Given the description of an element on the screen output the (x, y) to click on. 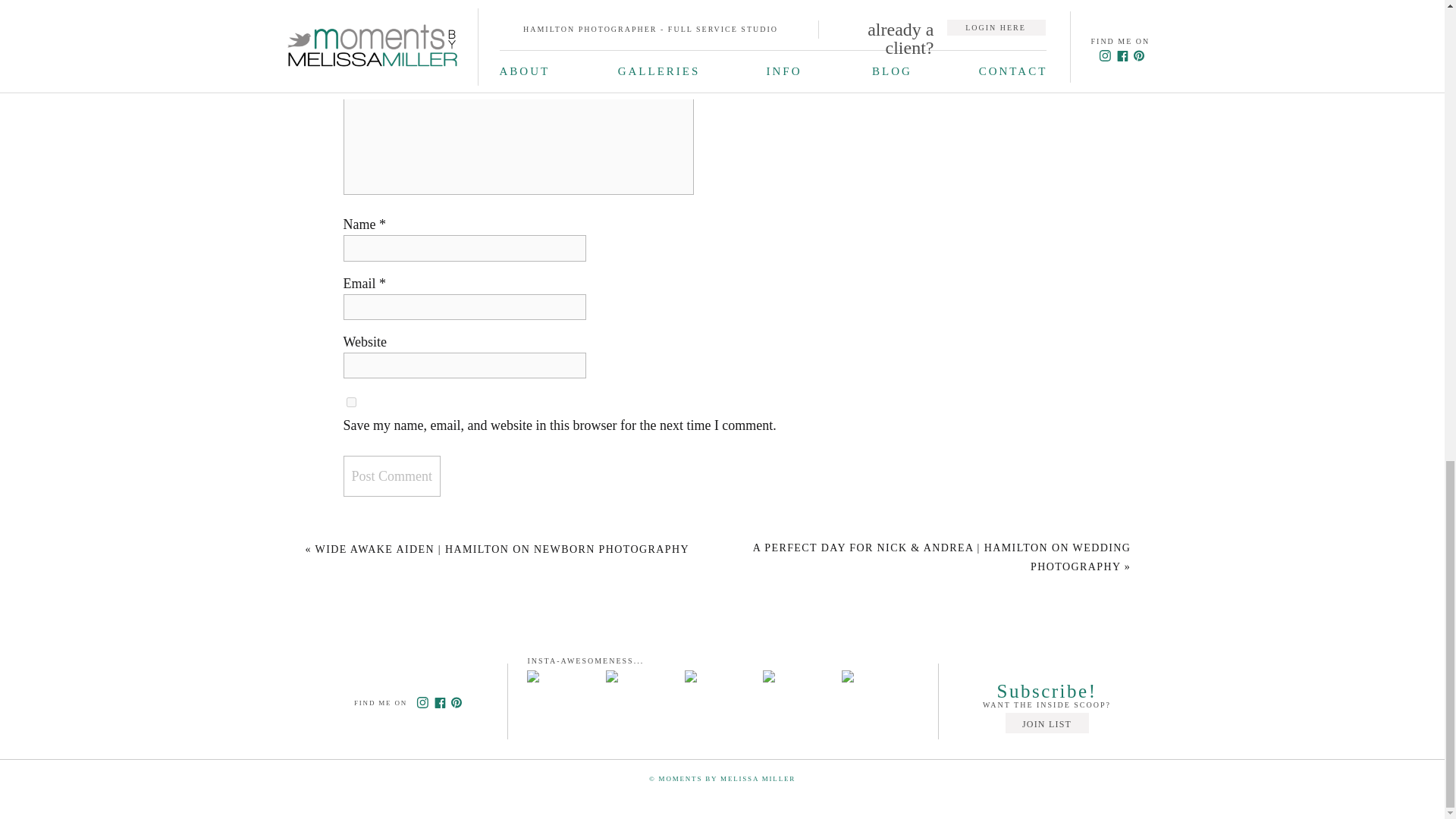
Post Comment (391, 475)
Facebook Copy-color Created with Sketch. (439, 702)
Instagram-color Created with Sketch. (421, 702)
yes (350, 402)
